Given the description of an element on the screen output the (x, y) to click on. 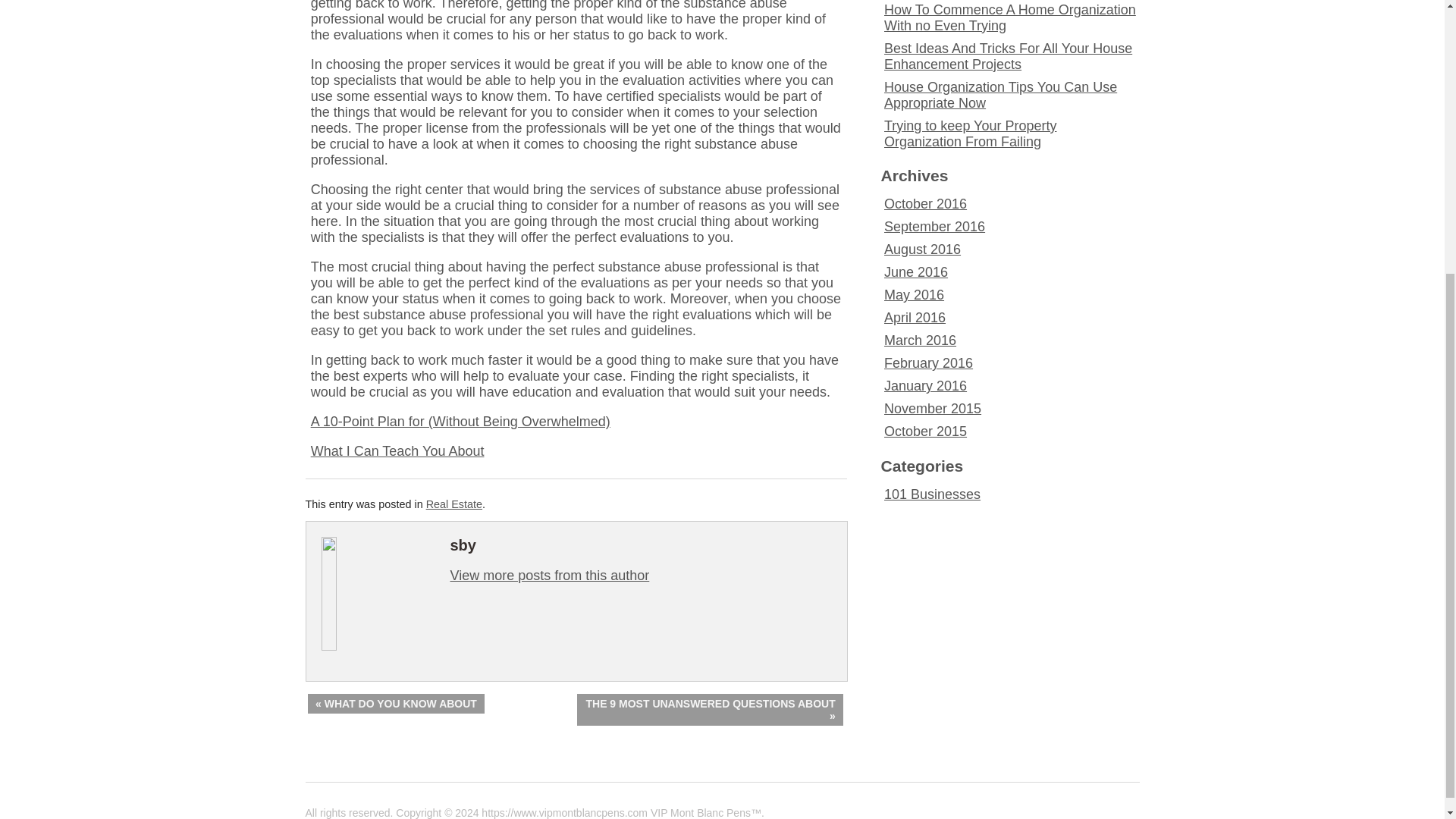
What I Can Teach You About (397, 450)
View more posts from this author (549, 575)
Real Estate (453, 503)
